Given the description of an element on the screen output the (x, y) to click on. 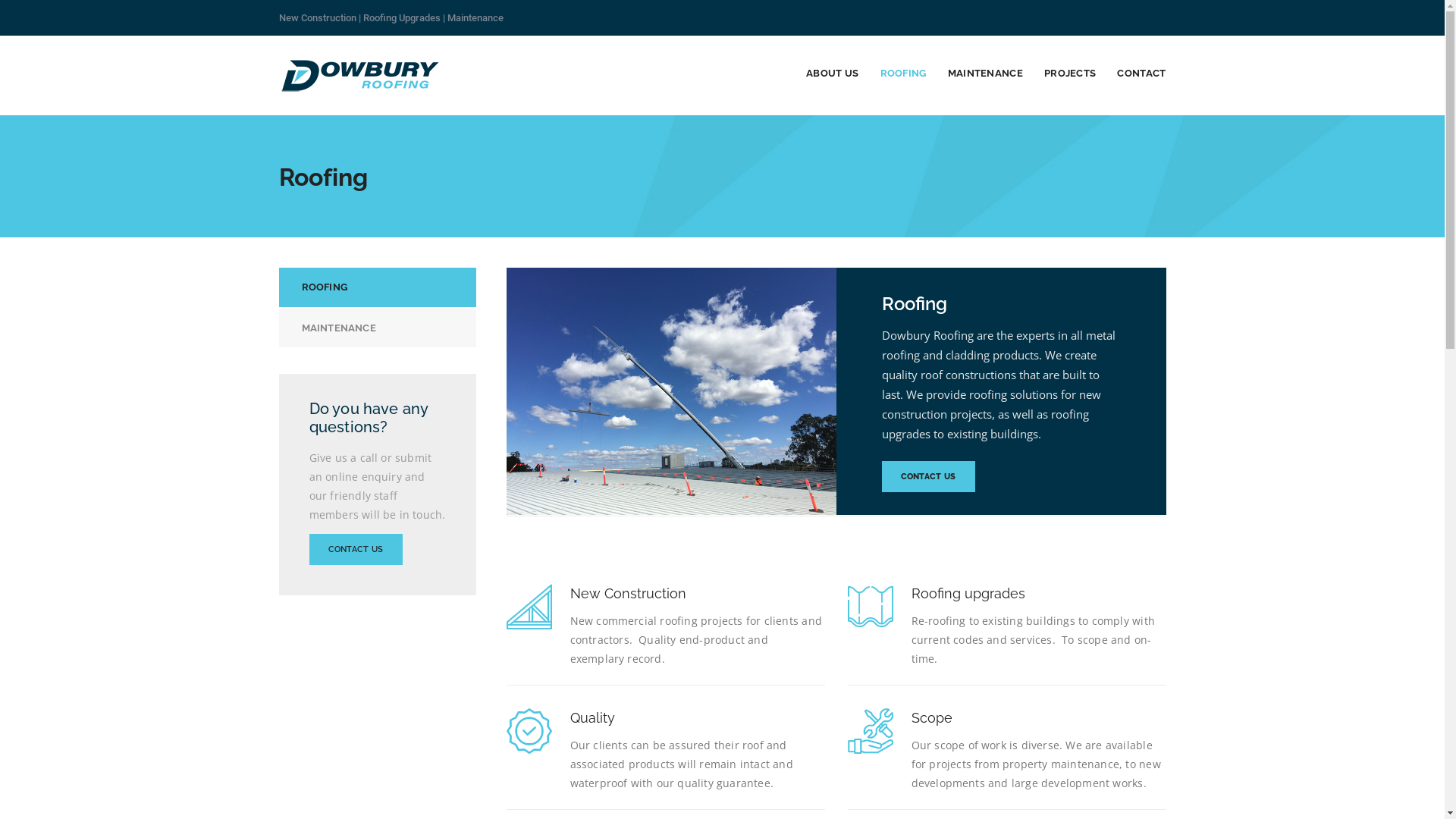
CONTACT US Element type: text (355, 548)
MAINTENANCE Element type: text (377, 328)
CONTACT Element type: text (1141, 72)
MAINTENANCE Element type: text (984, 72)
CONTACT US Element type: text (927, 476)
PROJECTS Element type: text (1069, 72)
ABOUT US Element type: text (832, 72)
ROOFING Element type: text (377, 287)
ROOFING Element type: text (903, 72)
